Given the description of an element on the screen output the (x, y) to click on. 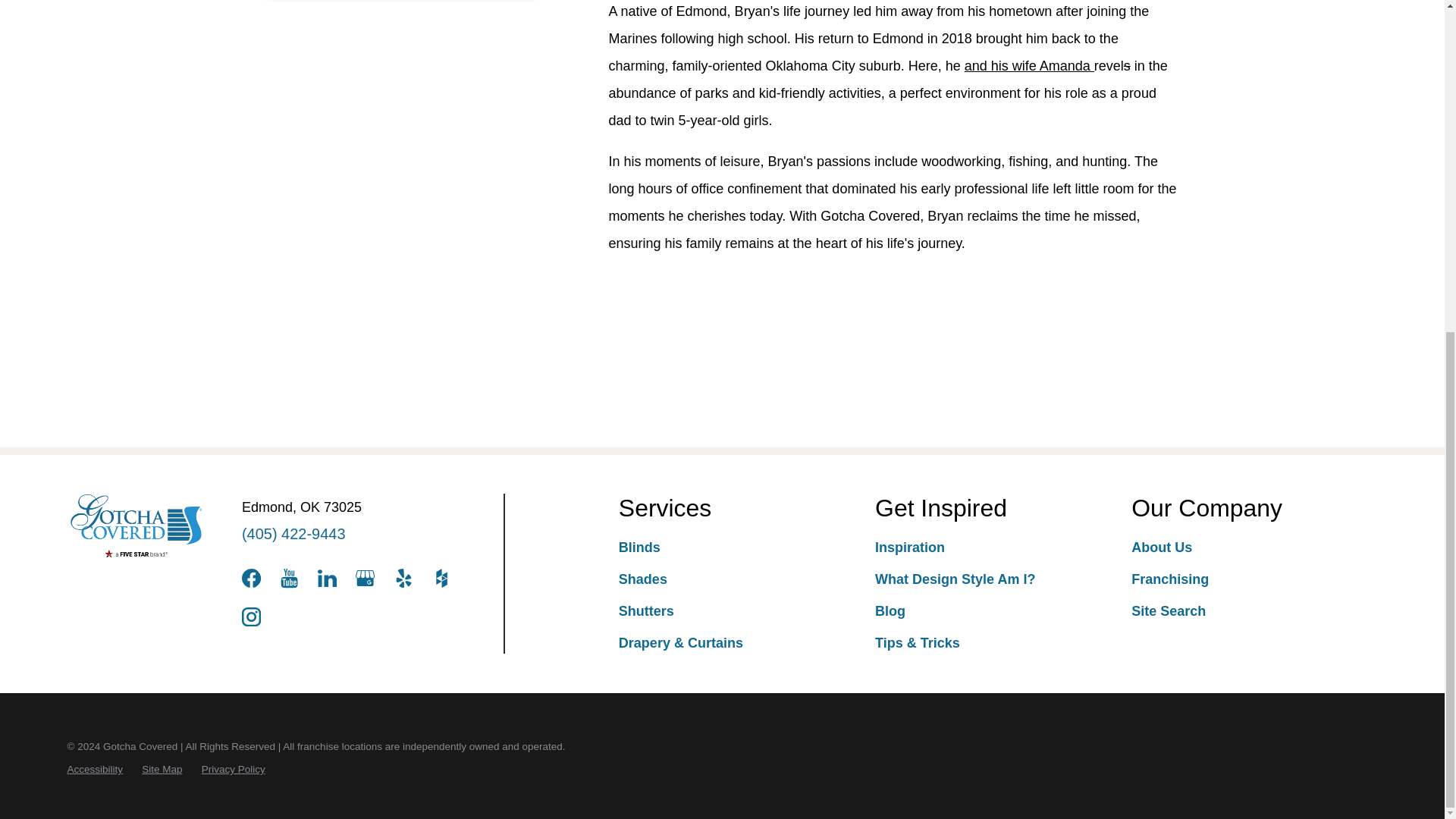
Gotcha Covered of Edmond (135, 525)
Facebook (250, 578)
GooglePlus (364, 578)
LinkedIn (326, 578)
YouTube (288, 578)
